Given the description of an element on the screen output the (x, y) to click on. 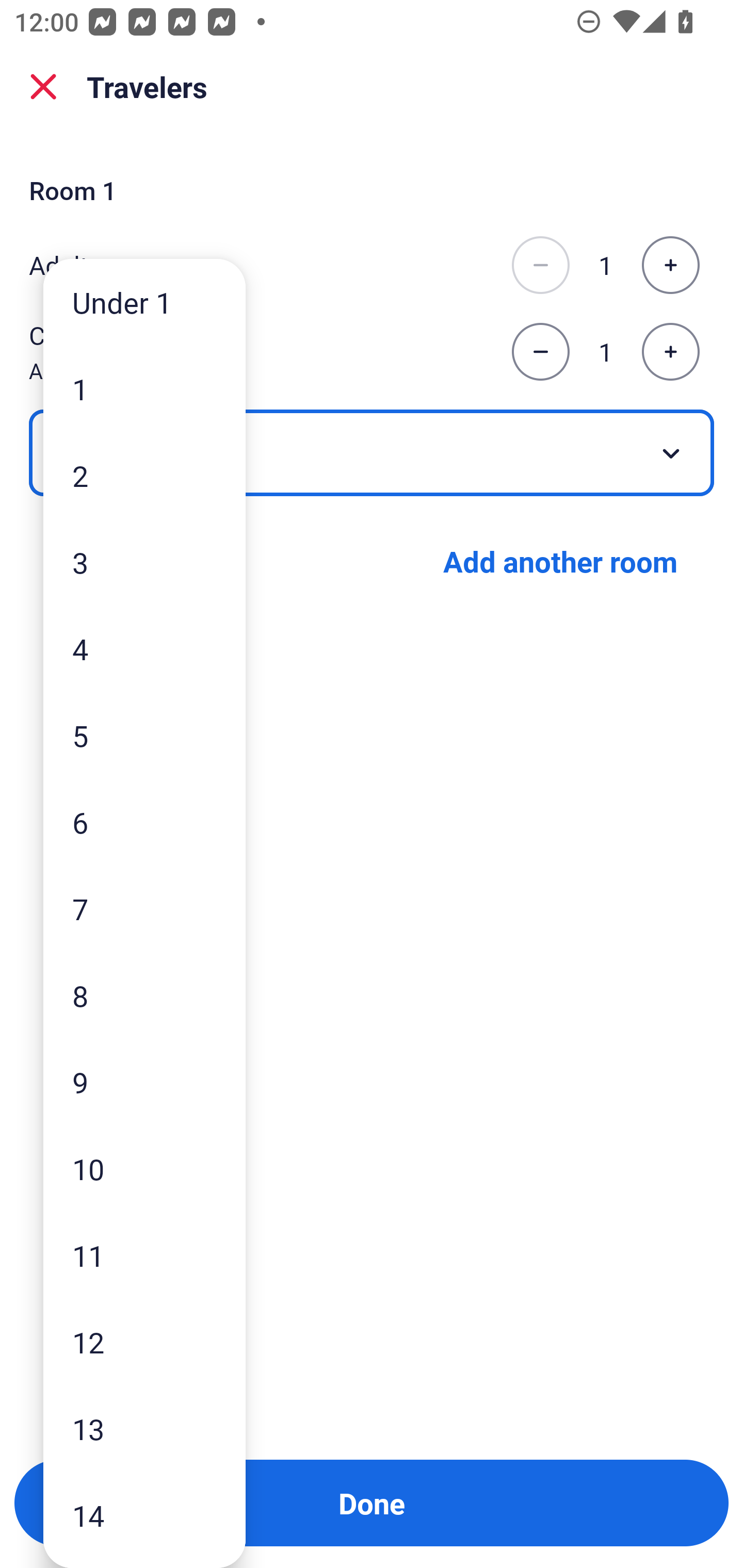
Under 1 (144, 301)
1 (144, 388)
2 (144, 475)
3 (144, 562)
4 (144, 648)
5 (144, 735)
6 (144, 822)
7 (144, 908)
8 (144, 994)
9 (144, 1081)
10 (144, 1168)
11 (144, 1255)
12 (144, 1342)
13 (144, 1429)
14 (144, 1515)
